Given the description of an element on the screen output the (x, y) to click on. 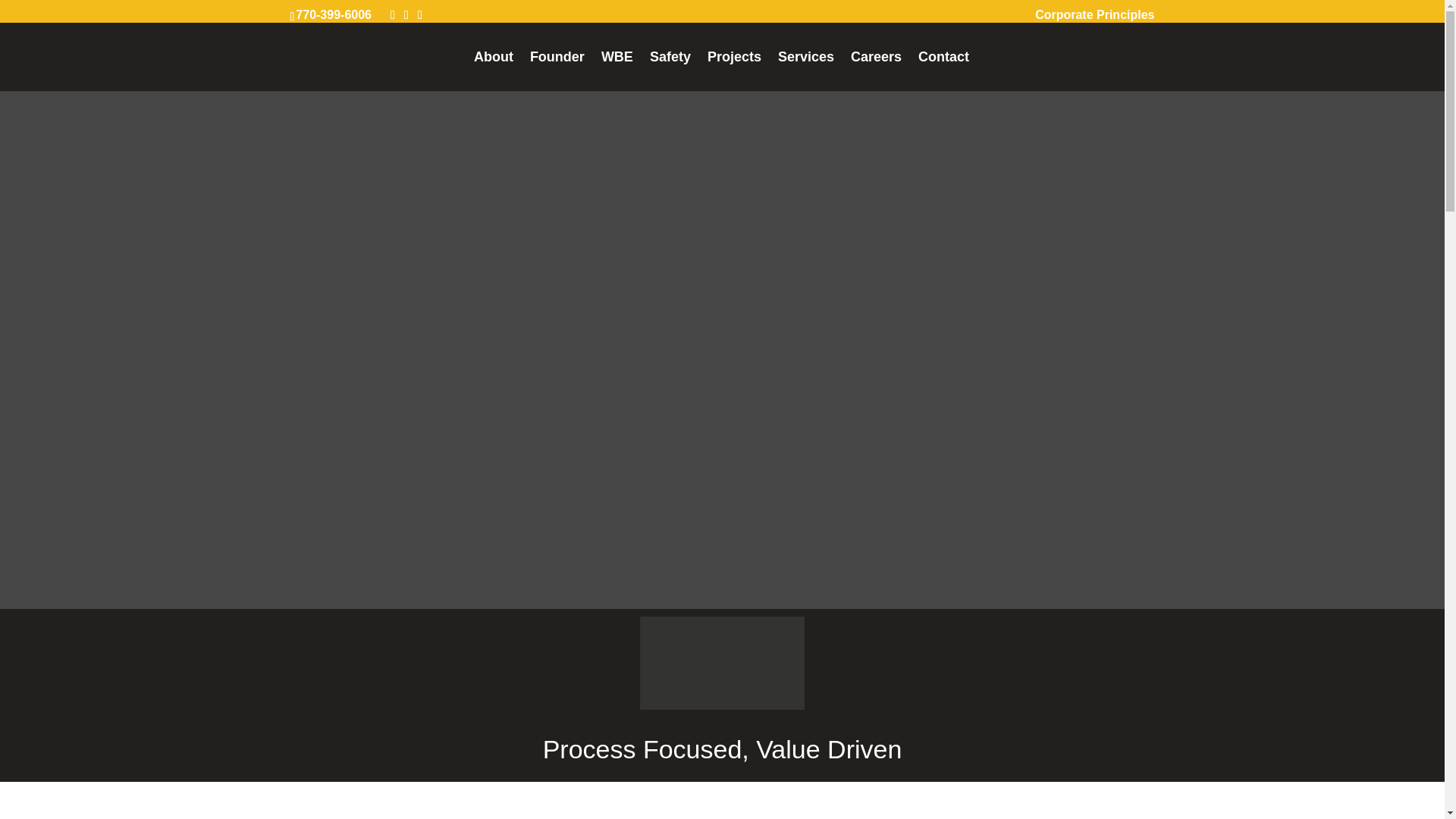
Safety (669, 70)
About (493, 70)
Contact (943, 70)
Corporate Principles (1094, 19)
Certified WBENC (722, 663)
Projects (734, 70)
Founder (557, 70)
Careers (875, 70)
Services (805, 70)
